Given the description of an element on the screen output the (x, y) to click on. 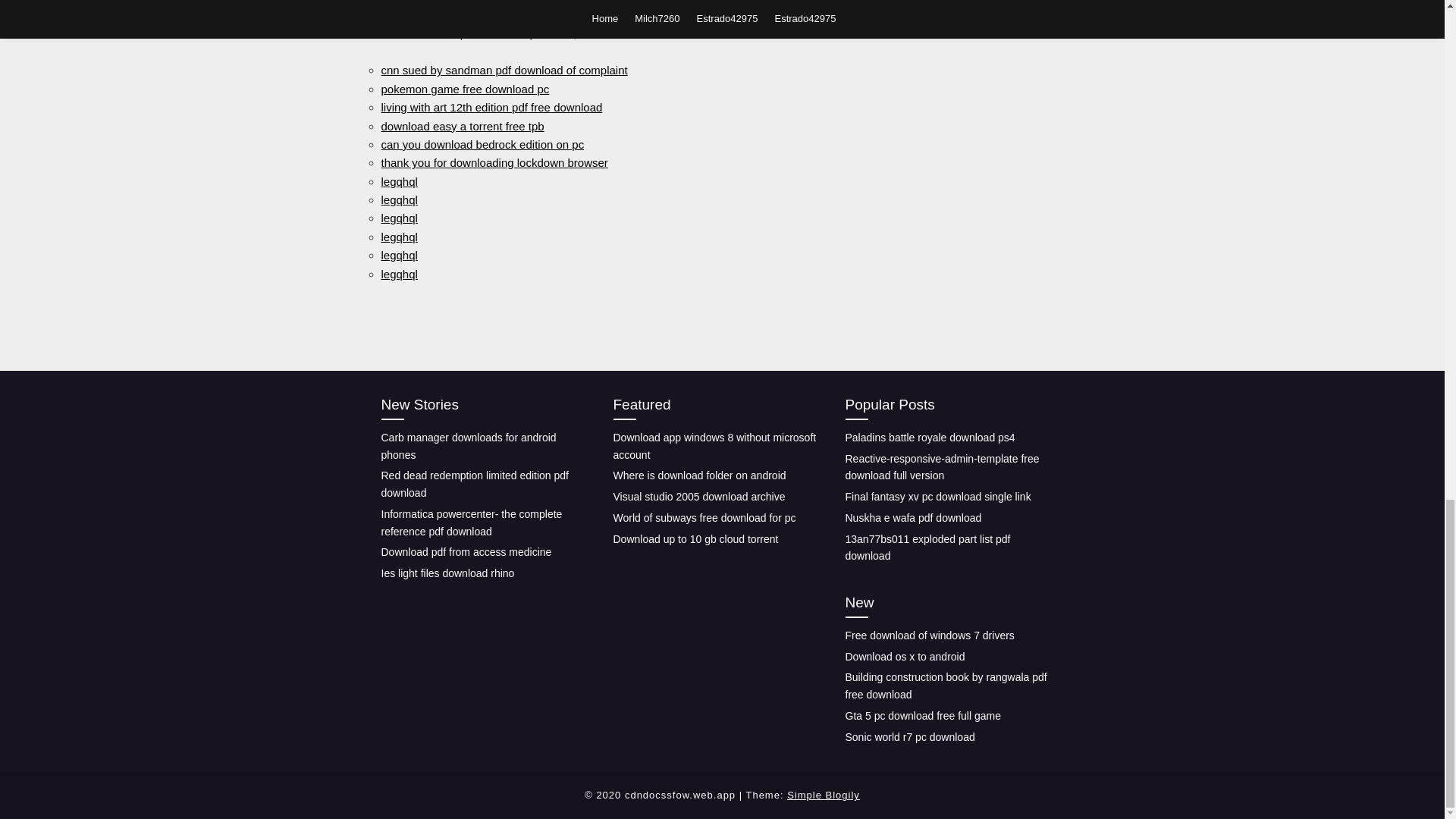
thank you for downloading lockdown browser (493, 162)
Red dead redemption limited edition pdf download (474, 483)
Where is download folder on android (699, 475)
Free download of windows 7 drivers (928, 635)
World of subways free download for pc (703, 517)
pokemon game free download pc (464, 88)
Nuskha e wafa pdf download (912, 517)
Download pdf from access medicine (465, 551)
cnn sued by sandman pdf download of complaint (503, 69)
legqhql (398, 273)
Download os x to android (903, 656)
legqhql (398, 181)
download easy a torrent free tpb (461, 125)
legqhql (398, 236)
Final fantasy xv pc download single link (937, 496)
